Given the description of an element on the screen output the (x, y) to click on. 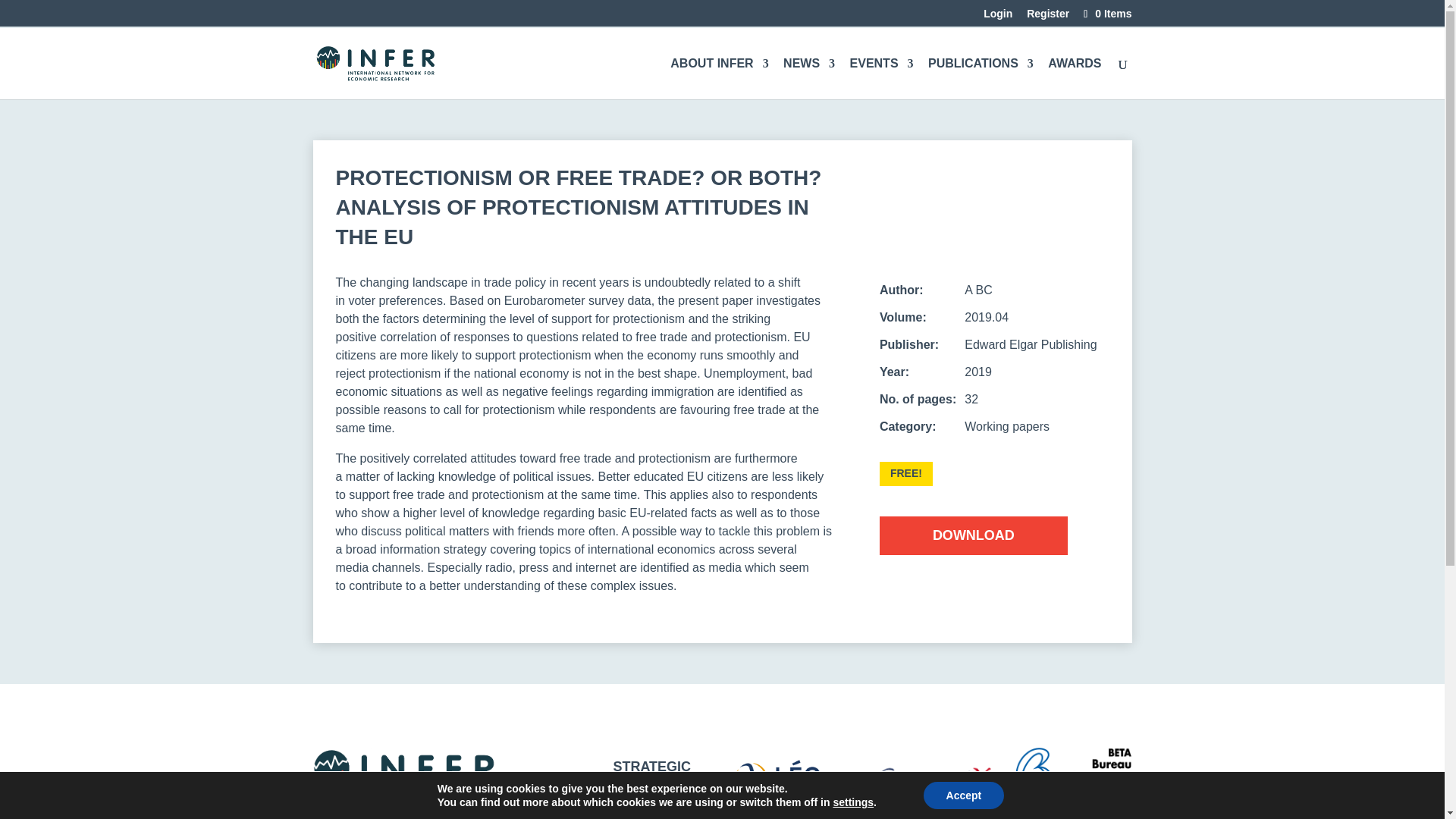
Login (997, 16)
0 Items (1105, 13)
Register (1047, 16)
infer-logo (404, 776)
economix (933, 779)
NEWS (808, 78)
PUBLICATIONS (980, 78)
AWARDS (1074, 78)
ABOUT INFER (718, 78)
EVENTS (882, 78)
